Given the description of an element on the screen output the (x, y) to click on. 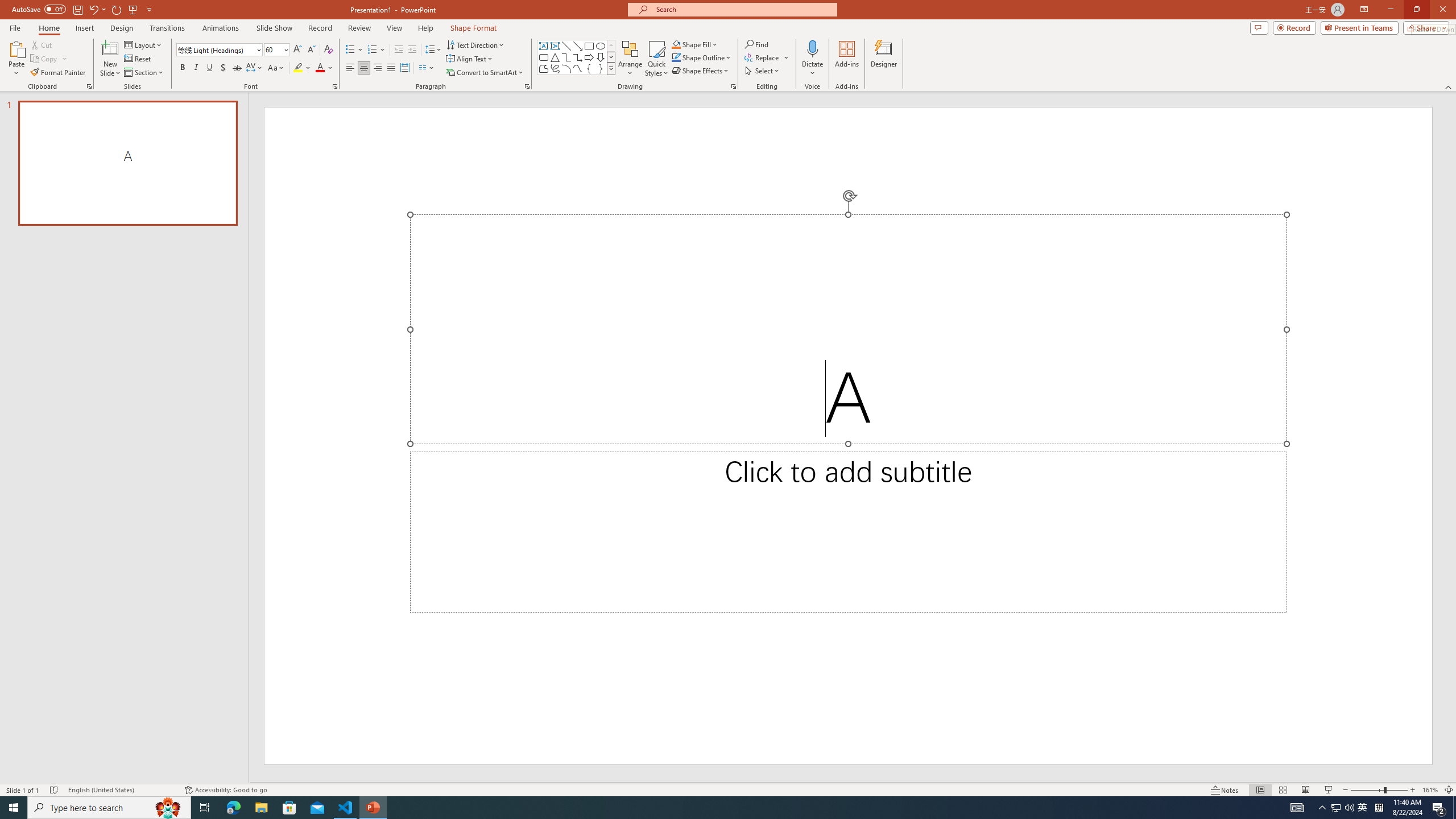
Zoom 161% (1430, 790)
